Given the description of an element on the screen output the (x, y) to click on. 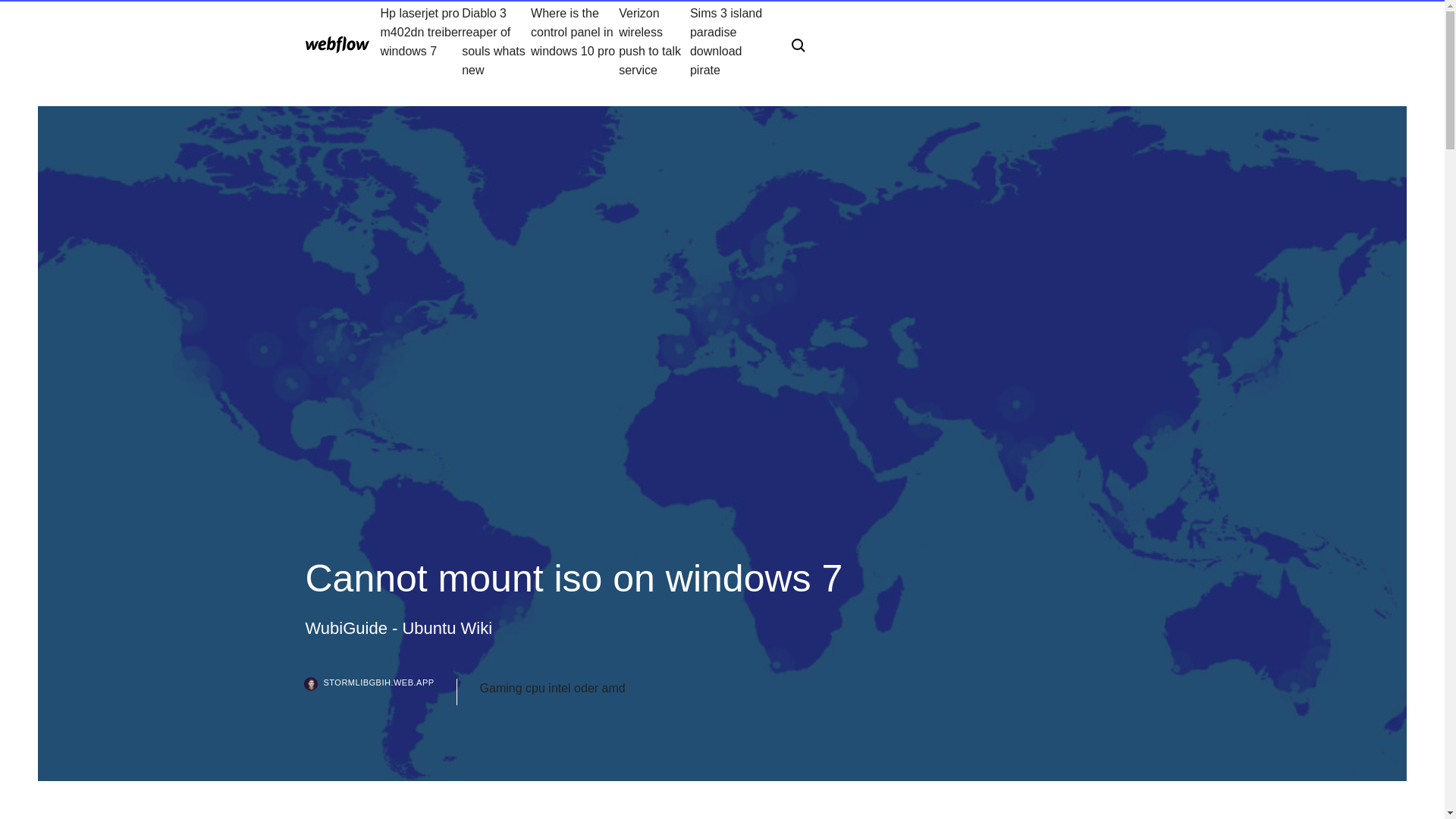
Hp laserjet pro m402dn treiber windows 7 (421, 41)
Sims 3 island paradise download pirate (728, 41)
Verizon wireless push to talk service (654, 41)
STORMLIBGBIH.WEB.APP (380, 691)
Diablo 3 reaper of souls whats new (496, 41)
Where is the control panel in windows 10 pro (574, 41)
Gaming cpu intel oder amd (553, 687)
